Given the description of an element on the screen output the (x, y) to click on. 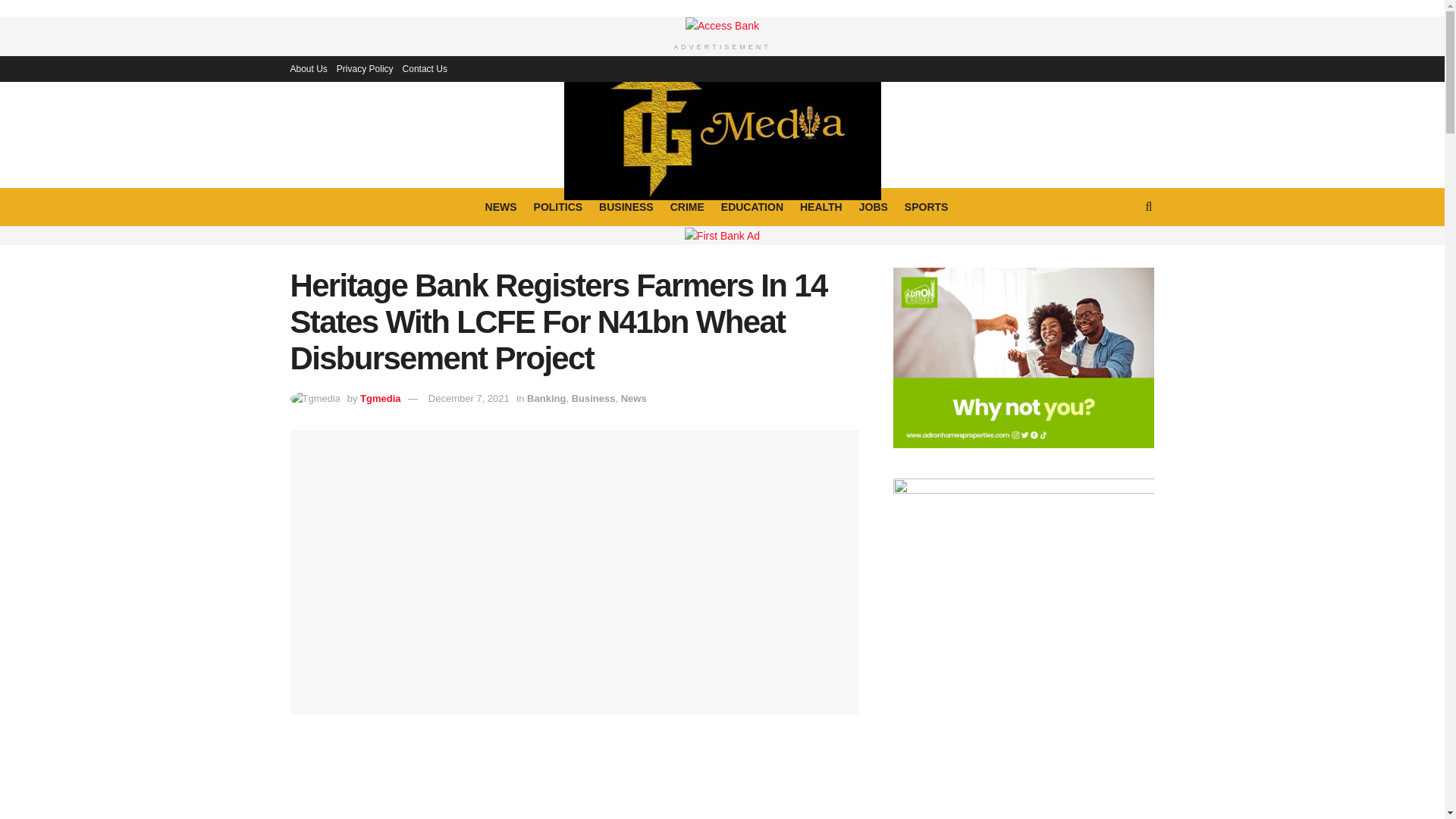
POLITICS (558, 206)
CRIME (686, 206)
BUSINESS (625, 206)
HEALTH (821, 206)
About Us (307, 68)
SPORTS (926, 206)
Contact Us (424, 68)
JOBS (873, 206)
EDUCATION (751, 206)
NEWS (500, 206)
